Given the description of an element on the screen output the (x, y) to click on. 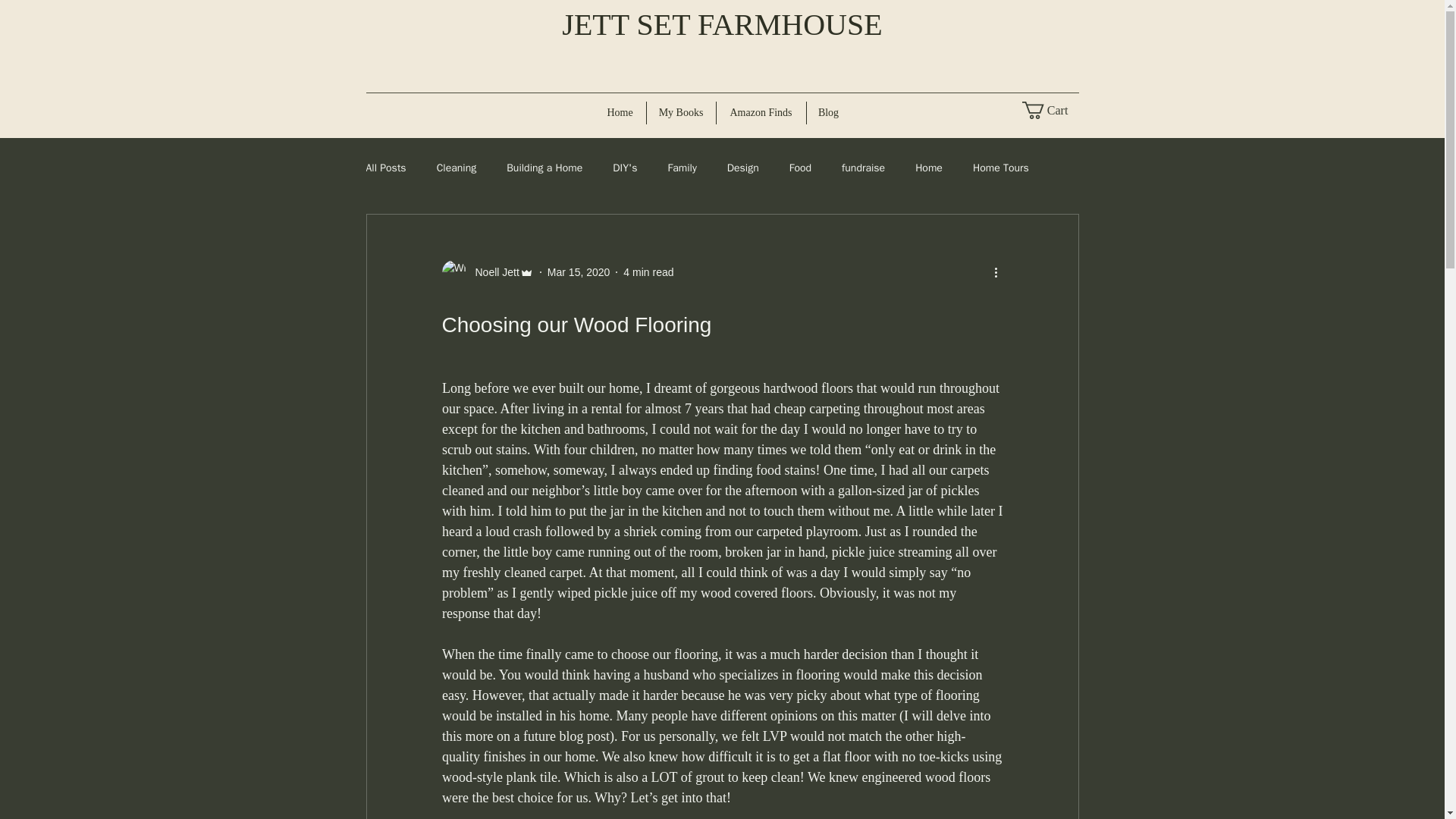
fundraise (863, 168)
Noell Jett (491, 271)
Building a Home (544, 168)
My Books (680, 112)
Home (620, 112)
Home Tours (1000, 168)
Amazon Finds (760, 112)
4 min read (647, 271)
Noell Jett (486, 272)
Design (742, 168)
Food (799, 168)
Family (680, 168)
DIY's (624, 168)
All Posts (385, 168)
Cleaning (456, 168)
